Given the description of an element on the screen output the (x, y) to click on. 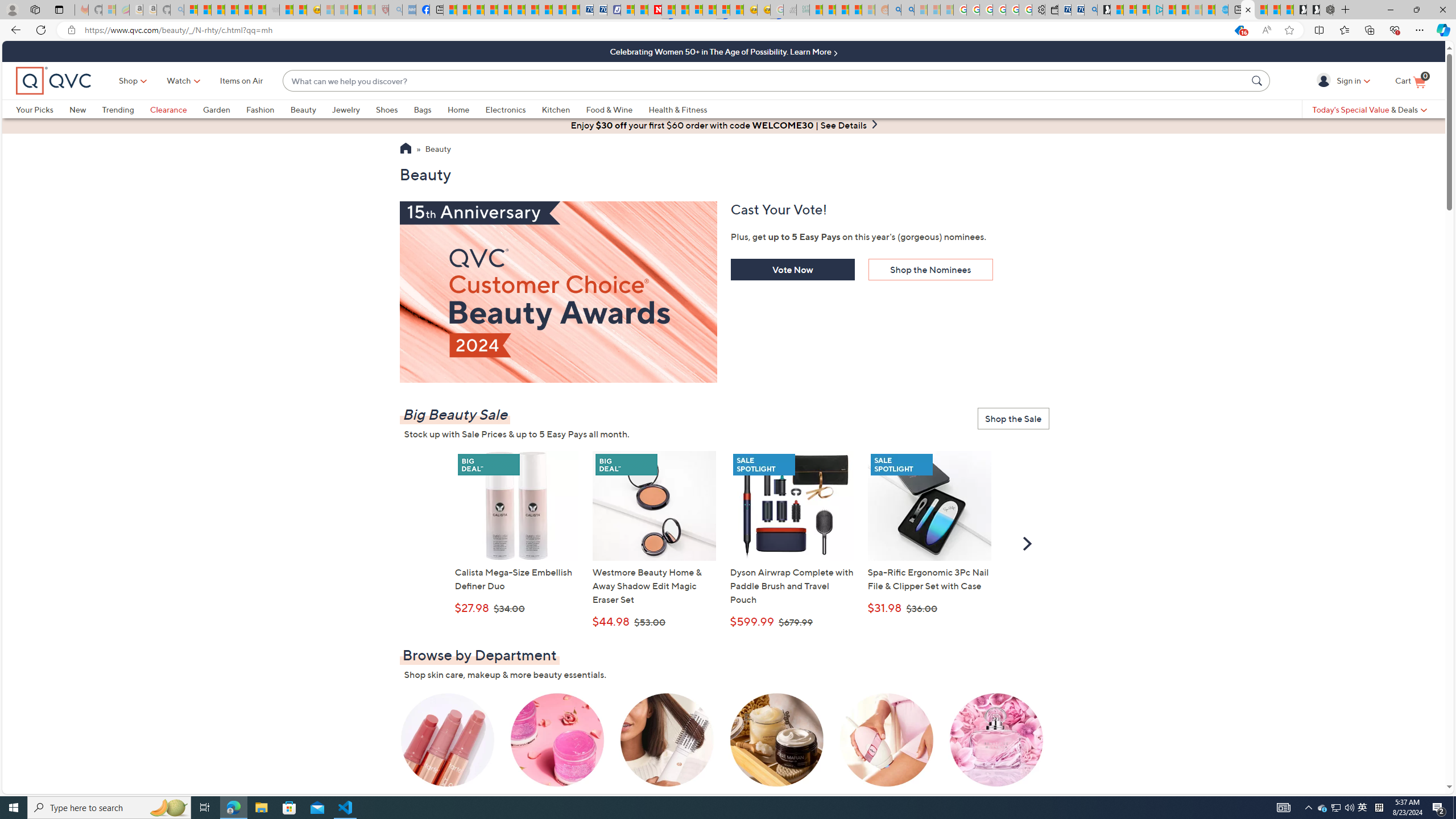
Utah sues federal government - Search (907, 9)
DITOGAMES AG Imprint - Sleeping (802, 9)
Microsoft-Report a Concern to Bing - Sleeping (108, 9)
Wallet (1050, 9)
Shop the Nominees (929, 269)
Shop (129, 80)
Cheap Hotels - Save70.com (599, 9)
The Weather Channel - MSN (218, 9)
Student Loan Update: Forgiveness Program Ends This Month (855, 9)
Trusted Community Engagement and Contributions | Guidelines (667, 9)
Kitchen (563, 109)
